Given the description of an element on the screen output the (x, y) to click on. 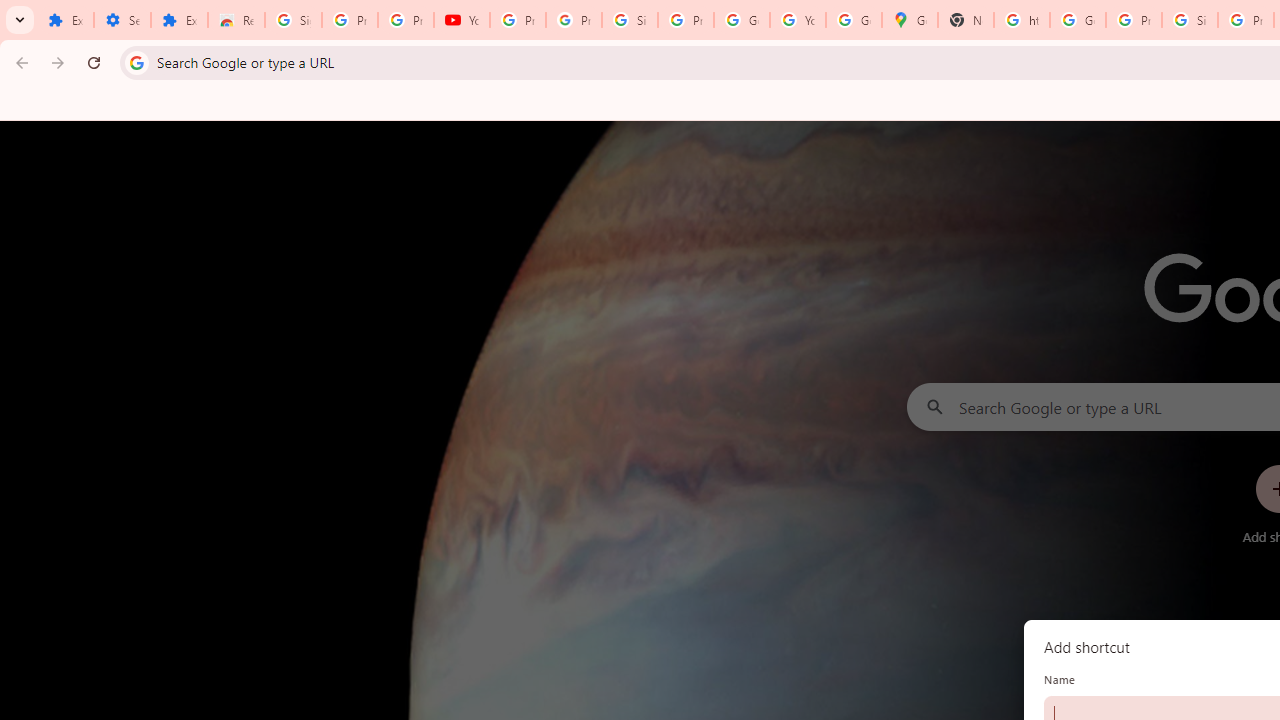
Extensions (65, 20)
Google Maps (909, 20)
https://scholar.google.com/ (1021, 20)
Google Account (742, 20)
Sign in - Google Accounts (293, 20)
